Given the description of an element on the screen output the (x, y) to click on. 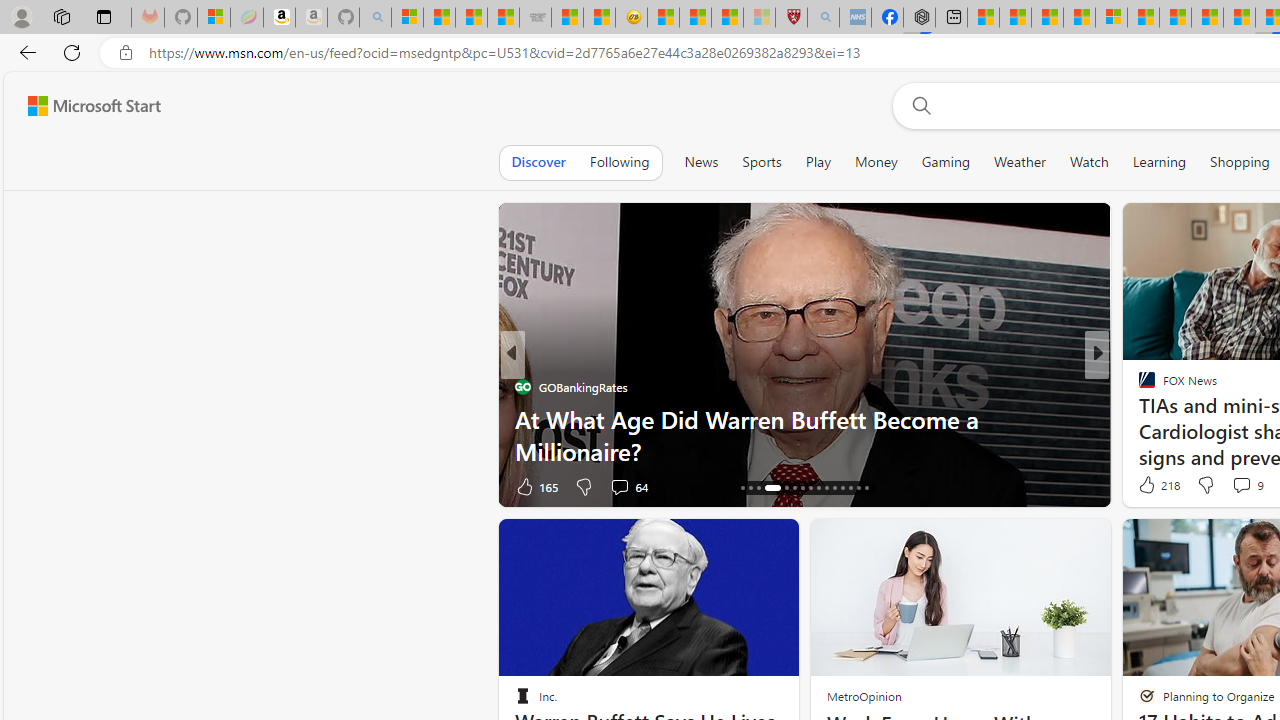
Hide this story (738, 542)
View comments 11 Comment (1237, 486)
View comments 34 Comment (1234, 485)
View comments 9 Comment (1247, 484)
AutomationID: tab-26 (833, 487)
AutomationID: tab-25 (825, 487)
